Given the description of an element on the screen output the (x, y) to click on. 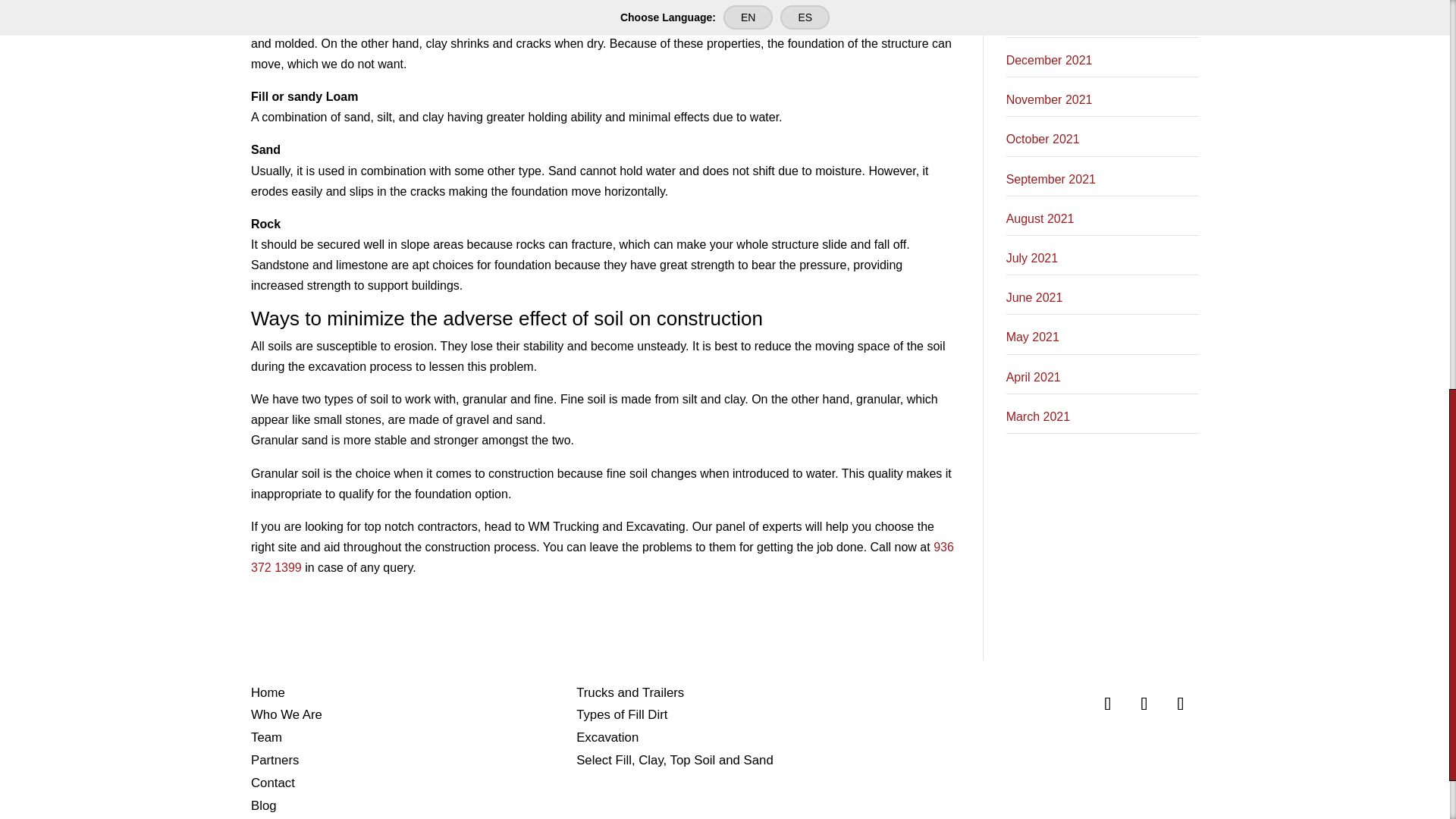
Follow on Facebook (1107, 701)
January 2022 (1043, 20)
Follow on LinkedIn (1179, 701)
936 372 1399 (601, 557)
